Given the description of an element on the screen output the (x, y) to click on. 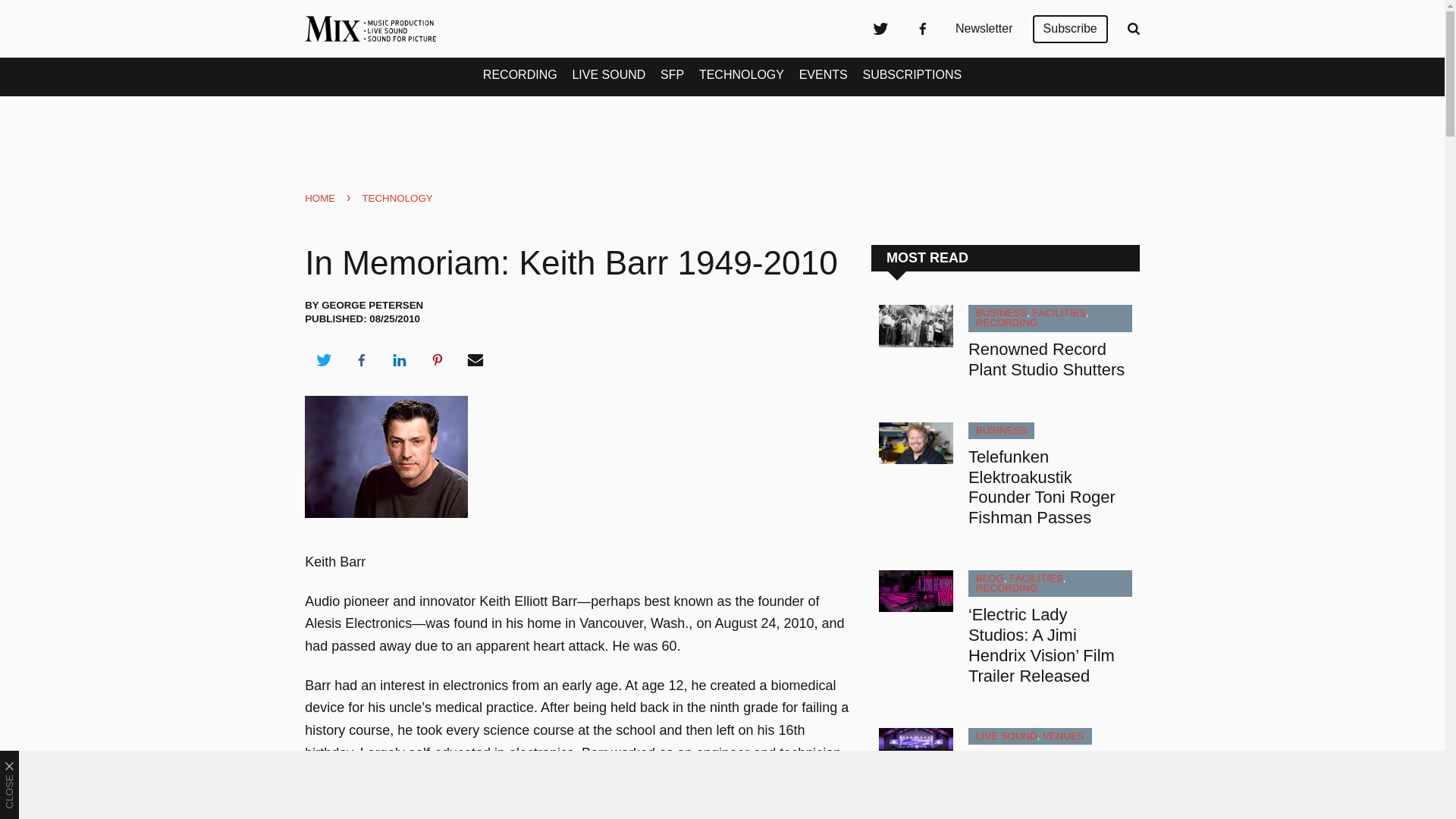
Share on LinkedIn (399, 360)
Share on Facebook (361, 360)
Share on Twitter (323, 360)
Share via Email (476, 360)
Share on Pinterest (438, 360)
